Given the description of an element on the screen output the (x, y) to click on. 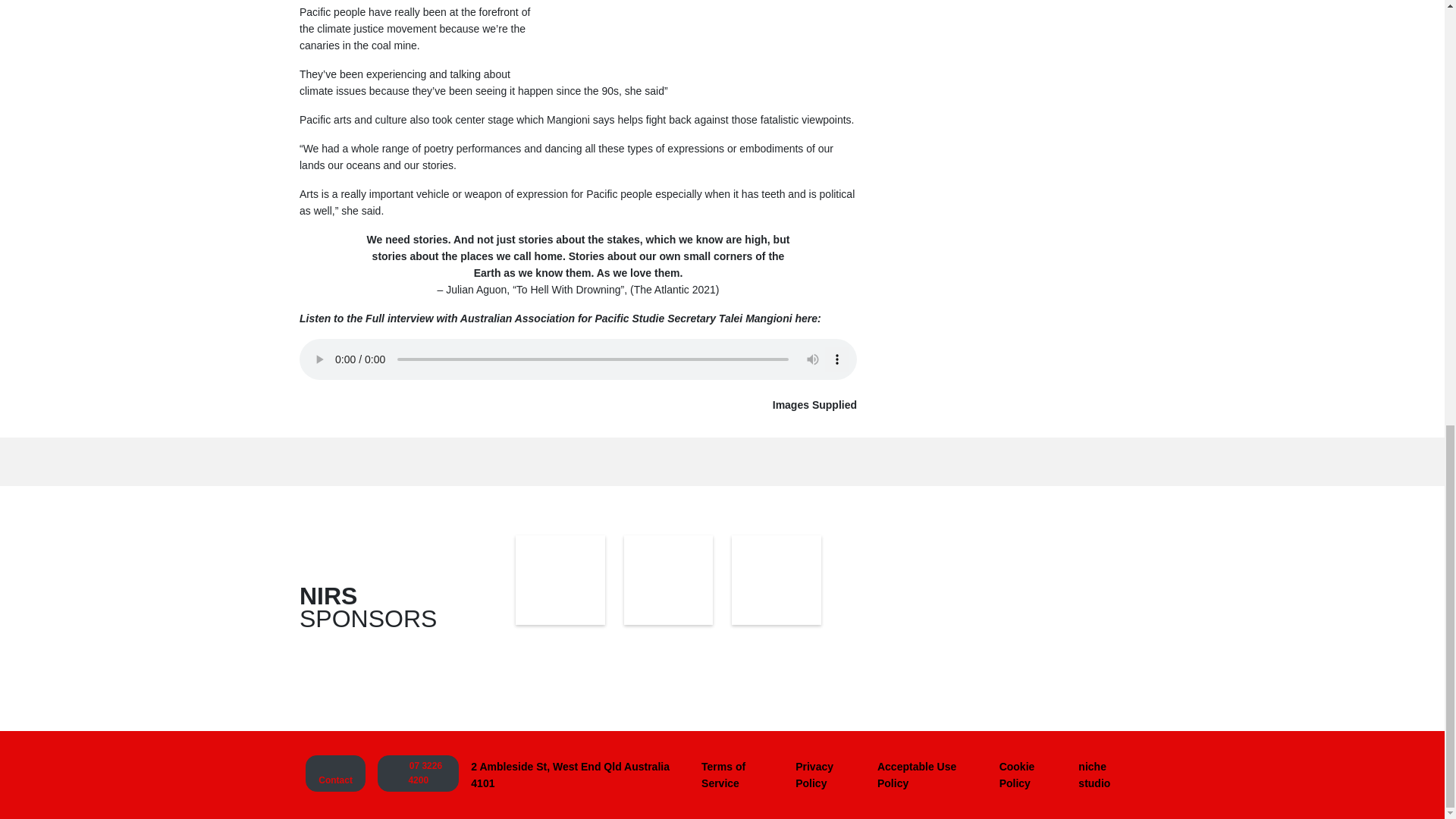
Terms of Service (742, 774)
niche studio (1107, 774)
Privacy Policy (829, 774)
Contact (335, 773)
Contact (335, 773)
Acceptable Use Policy (931, 774)
2 Ambleside St, West End Qld Australia 4101 (579, 774)
Privacy Policy (829, 774)
07 3226 4200 (417, 773)
2 Ambleside St, West End Qld Australia 4101 (579, 774)
Acceptable Use Policy (931, 774)
Terms of Service (742, 774)
Cookie Policy (1032, 774)
